Given the description of an element on the screen output the (x, y) to click on. 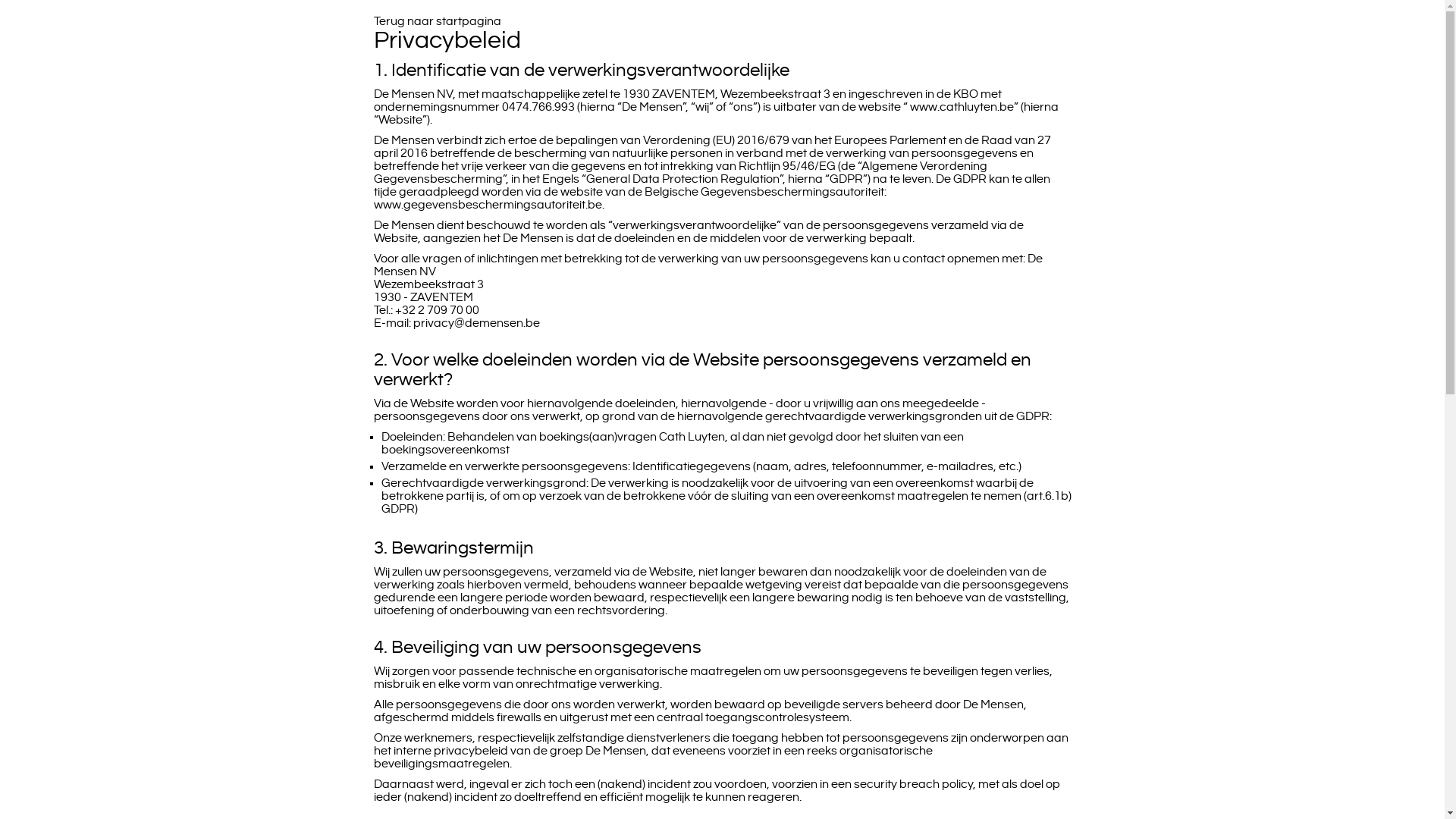
privacy@demensen.be Element type: text (475, 322)
Terug naar startpagina Element type: text (436, 21)
www.cathluyten.be Element type: text (961, 106)
www.gegevensbeschermingsautoriteit.be Element type: text (487, 204)
